Given the description of an element on the screen output the (x, y) to click on. 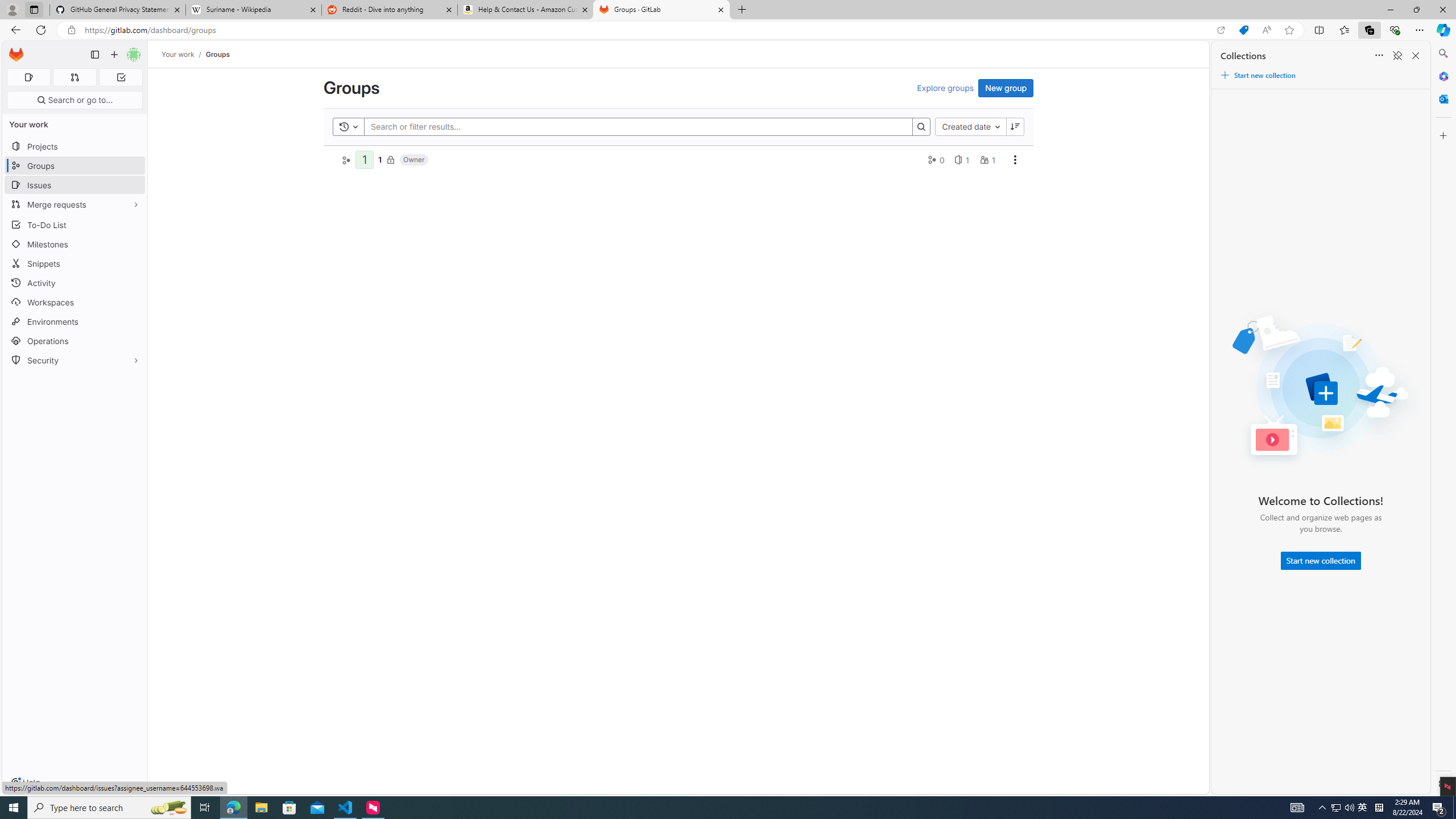
Environments (74, 321)
Merge requests (74, 203)
Projects (74, 145)
Close Collections (1415, 55)
To-Do list 0 (120, 76)
Merge requests 0 (74, 76)
Operations (74, 340)
Groups (217, 53)
Start new collection (1321, 560)
